Given the description of an element on the screen output the (x, y) to click on. 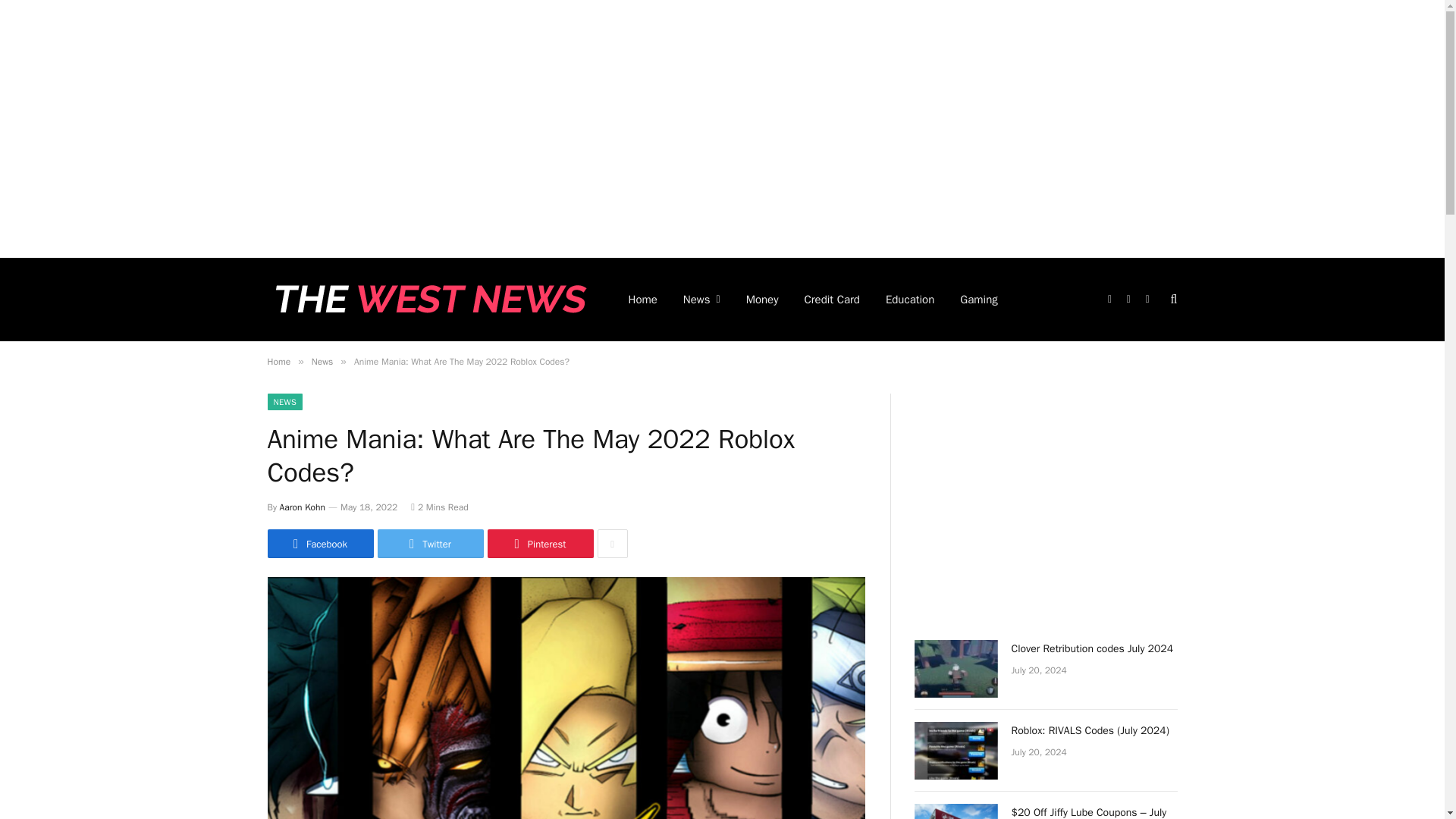
Education (909, 299)
Aaron Kohn (301, 507)
Twitter (430, 543)
Share on Facebook (319, 543)
Pinterest (539, 543)
News (322, 361)
Credit Card (832, 299)
Home (277, 361)
Show More Social Sharing (611, 543)
Share on Pinterest (539, 543)
The West News (427, 299)
Facebook (319, 543)
NEWS (284, 401)
